Given the description of an element on the screen output the (x, y) to click on. 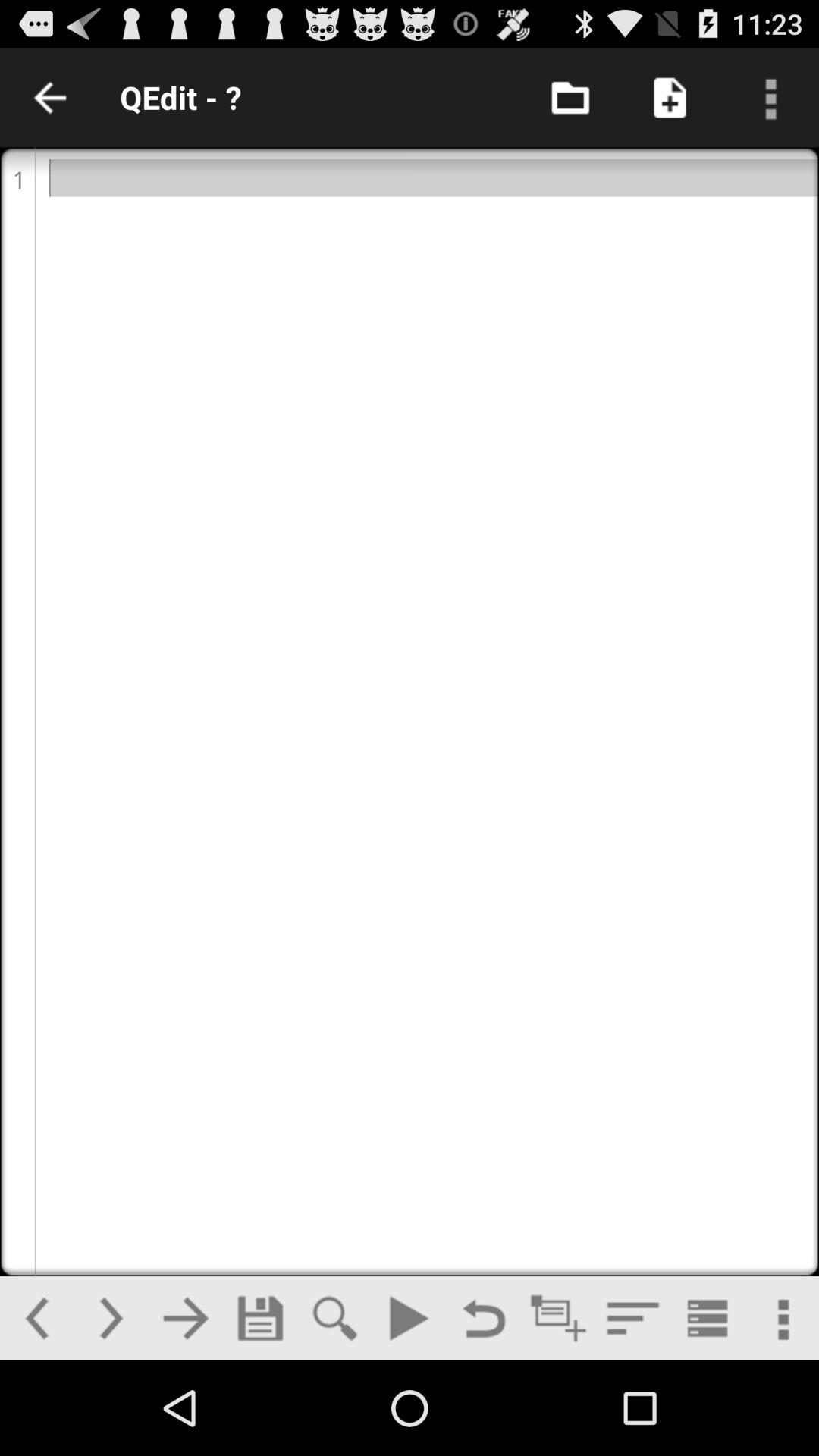
menu option (769, 97)
